Given the description of an element on the screen output the (x, y) to click on. 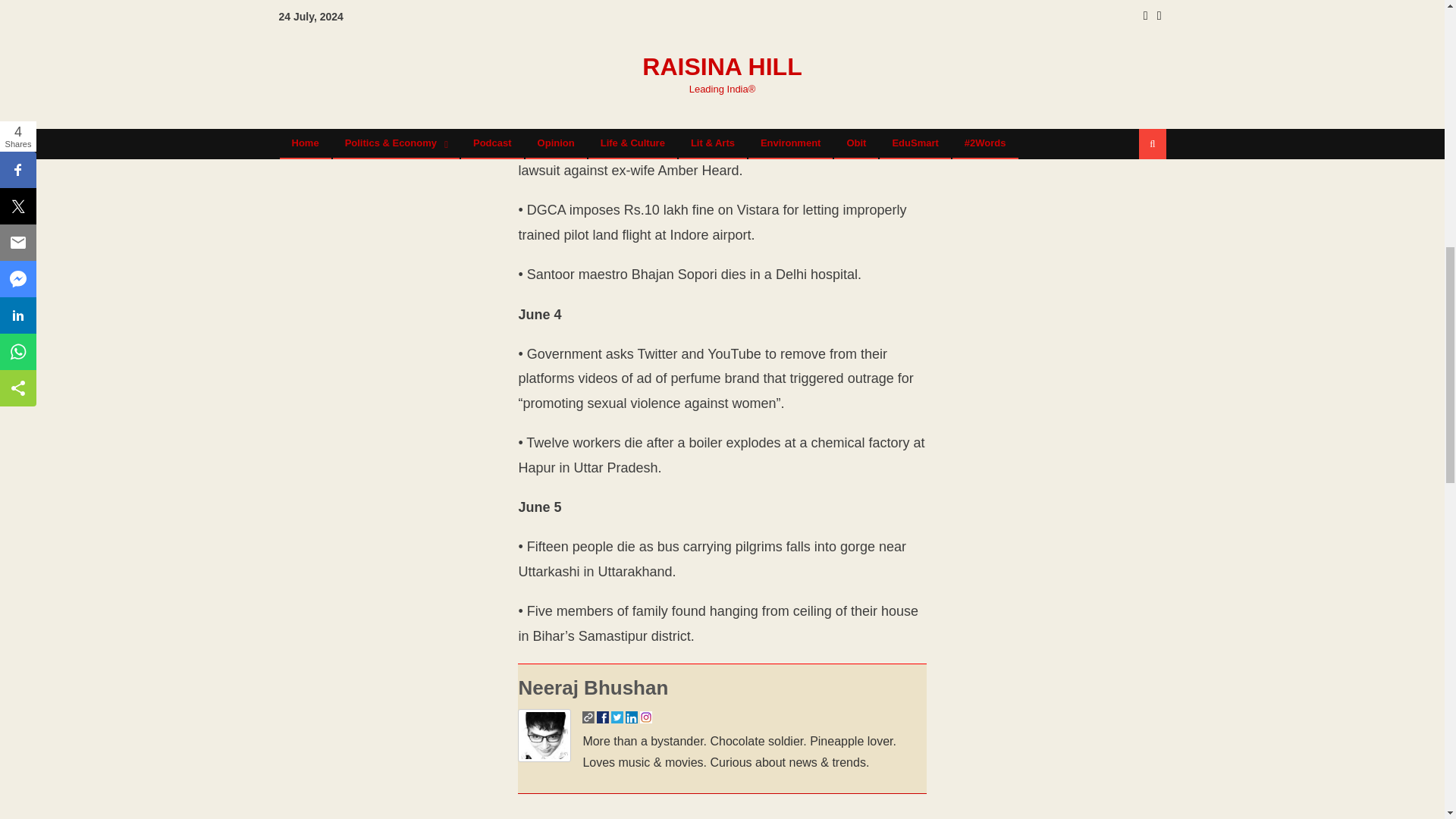
All posts by Neeraj Bhushan (593, 687)
